Given the description of an element on the screen output the (x, y) to click on. 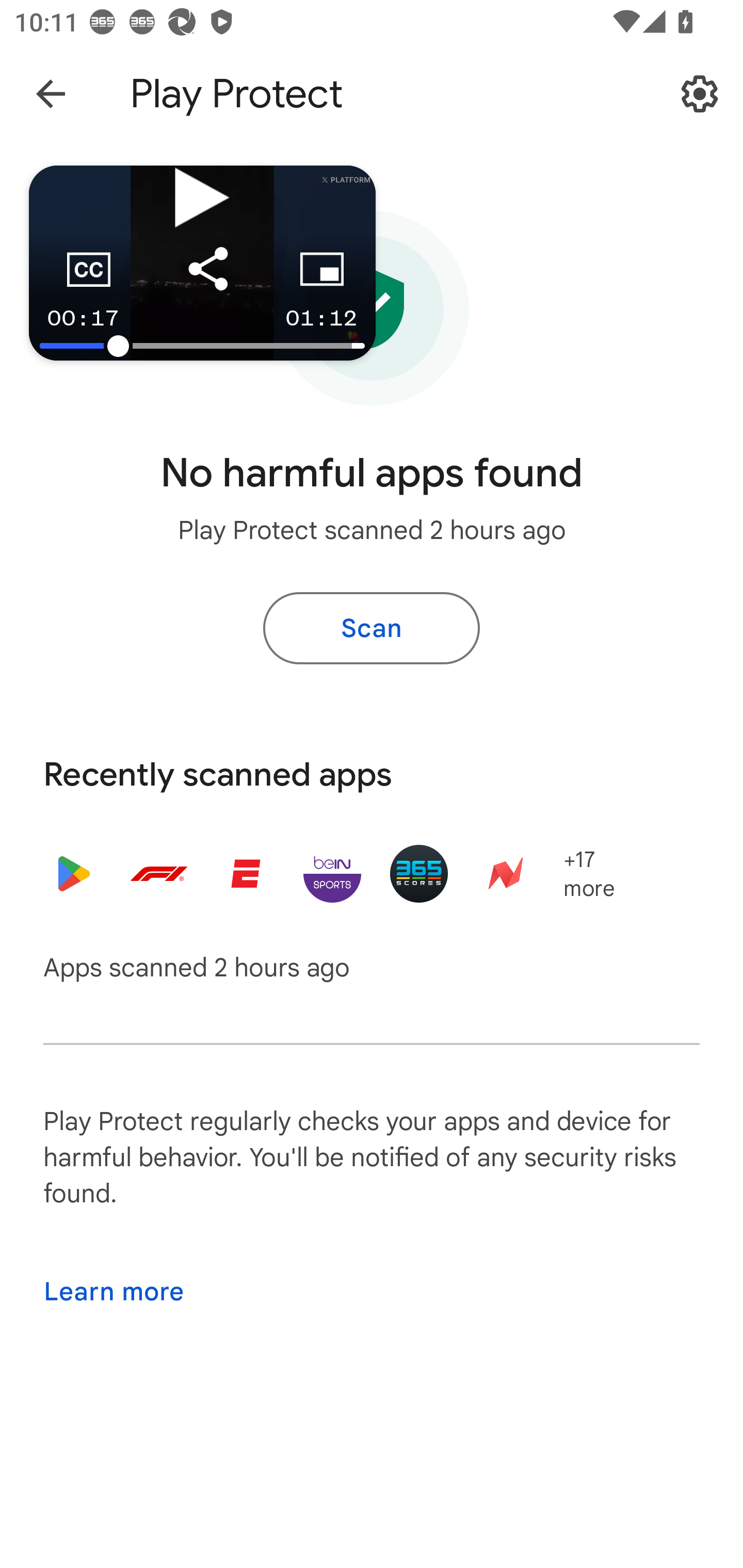
Navigate up (50, 93)
Settings (699, 93)
Scan (371, 628)
Learn more (113, 1291)
